Given the description of an element on the screen output the (x, y) to click on. 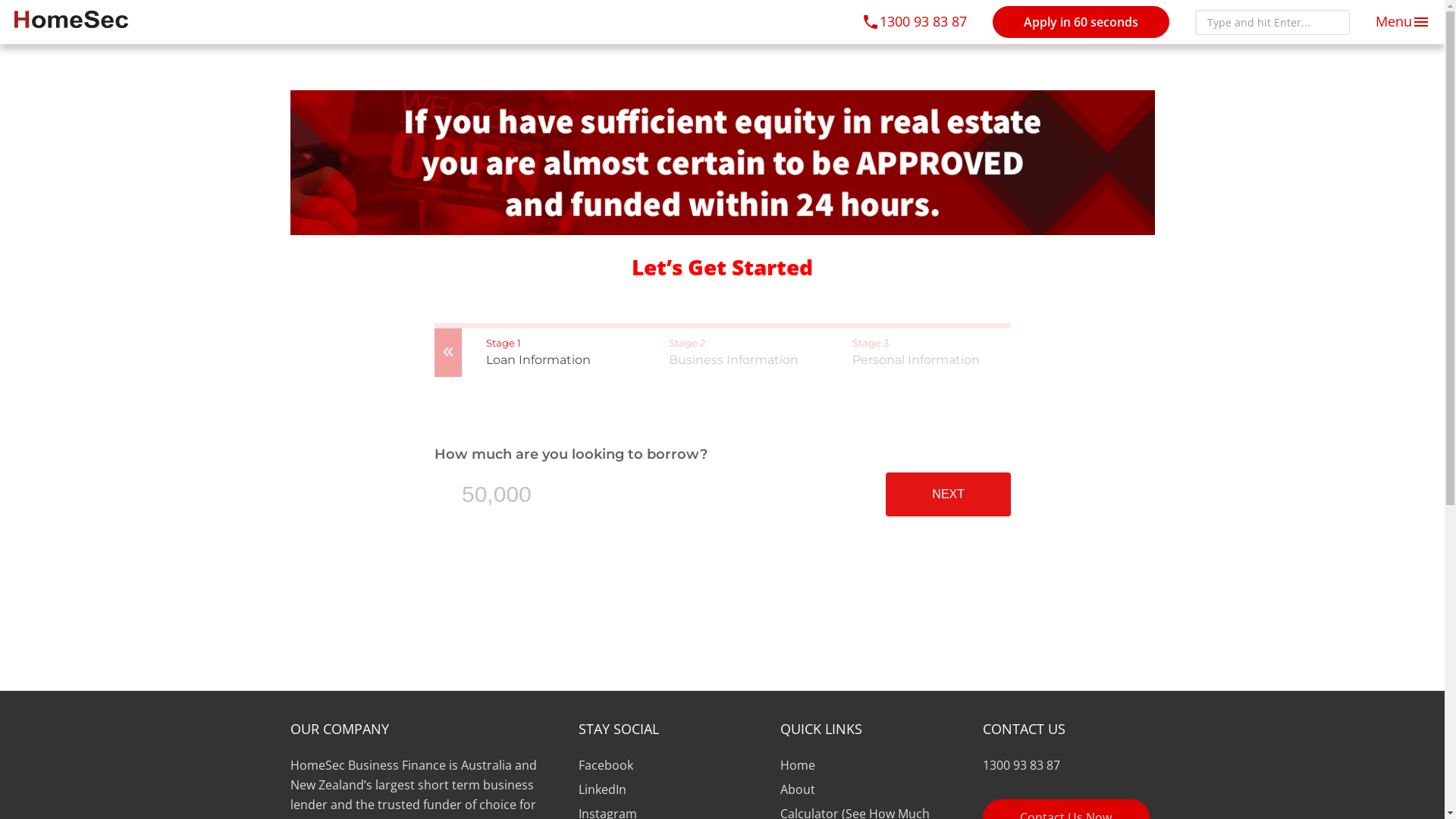
Facebook Element type: text (604, 764)
Homesec Business Finance Element type: hover (71, 13)
About Element type: text (797, 789)
1300 93 83 87 Element type: text (913, 21)
Homesec Business Finance Element type: hover (71, 19)
1300 93 83 87 Element type: text (1068, 765)
Apply in 60 seconds Element type: text (1080, 21)
LinkedIn Element type: text (601, 789)
Menu Element type: text (1402, 21)
Home Element type: text (797, 764)
